Given the description of an element on the screen output the (x, y) to click on. 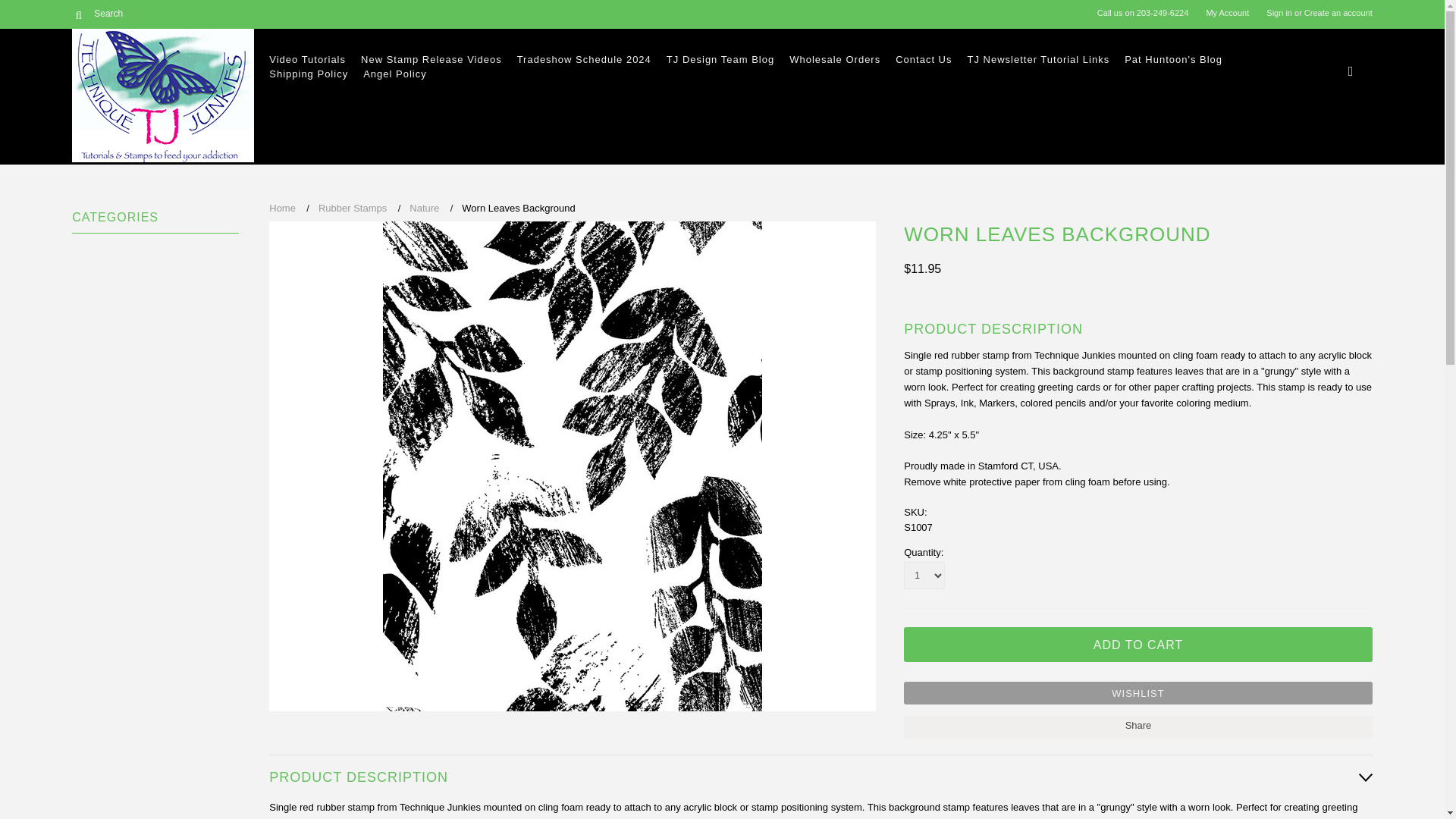
Add To Cart (1138, 644)
View Cart (1354, 66)
Search (145, 13)
View Cart (1351, 69)
Search (77, 14)
Wishlist (1138, 692)
